Given the description of an element on the screen output the (x, y) to click on. 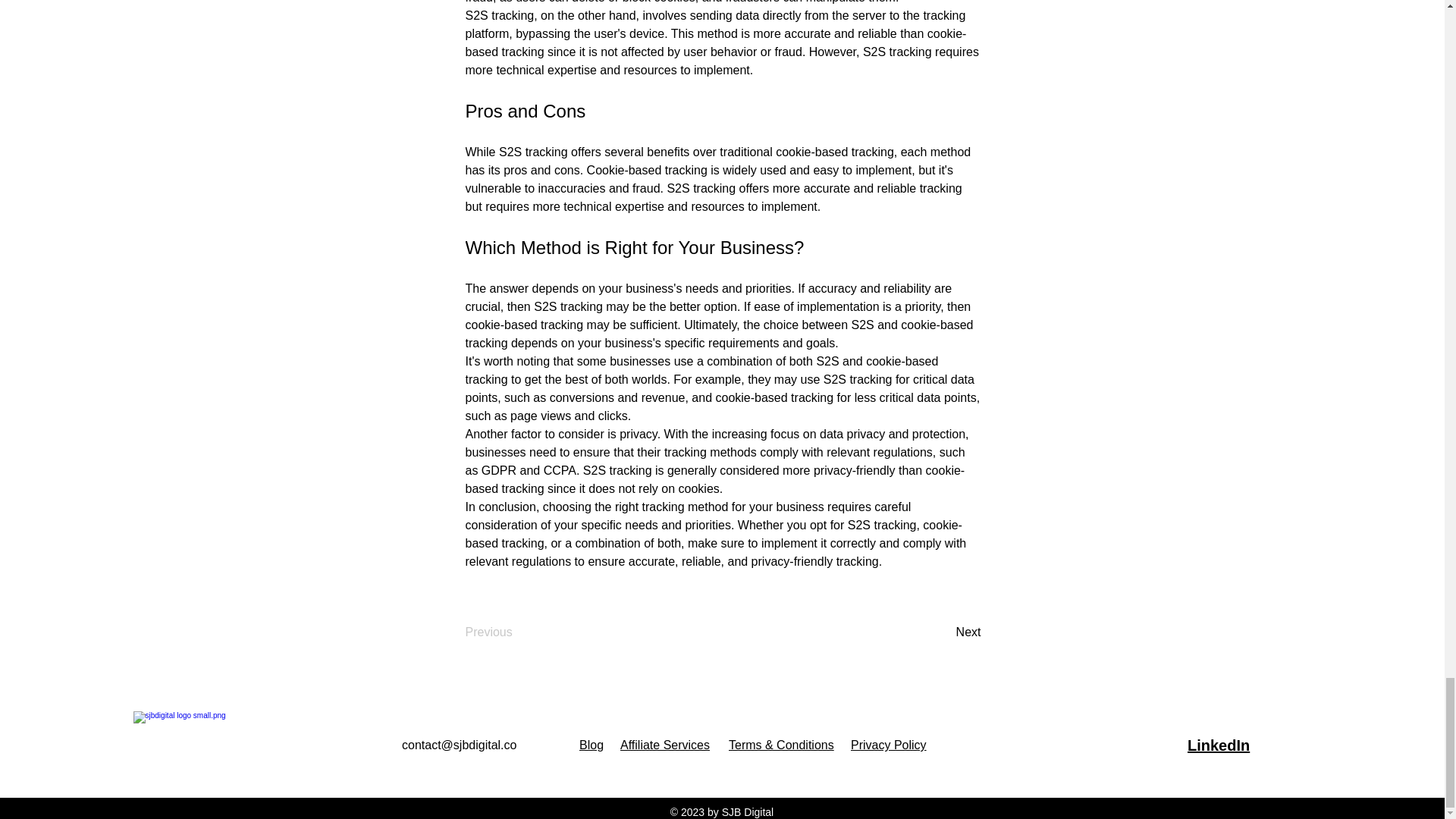
LinkedIn (1218, 745)
Blog (591, 744)
Next (943, 632)
Privacy Policy (888, 744)
Previous (515, 632)
Affiliate Services (665, 744)
